Given the description of an element on the screen output the (x, y) to click on. 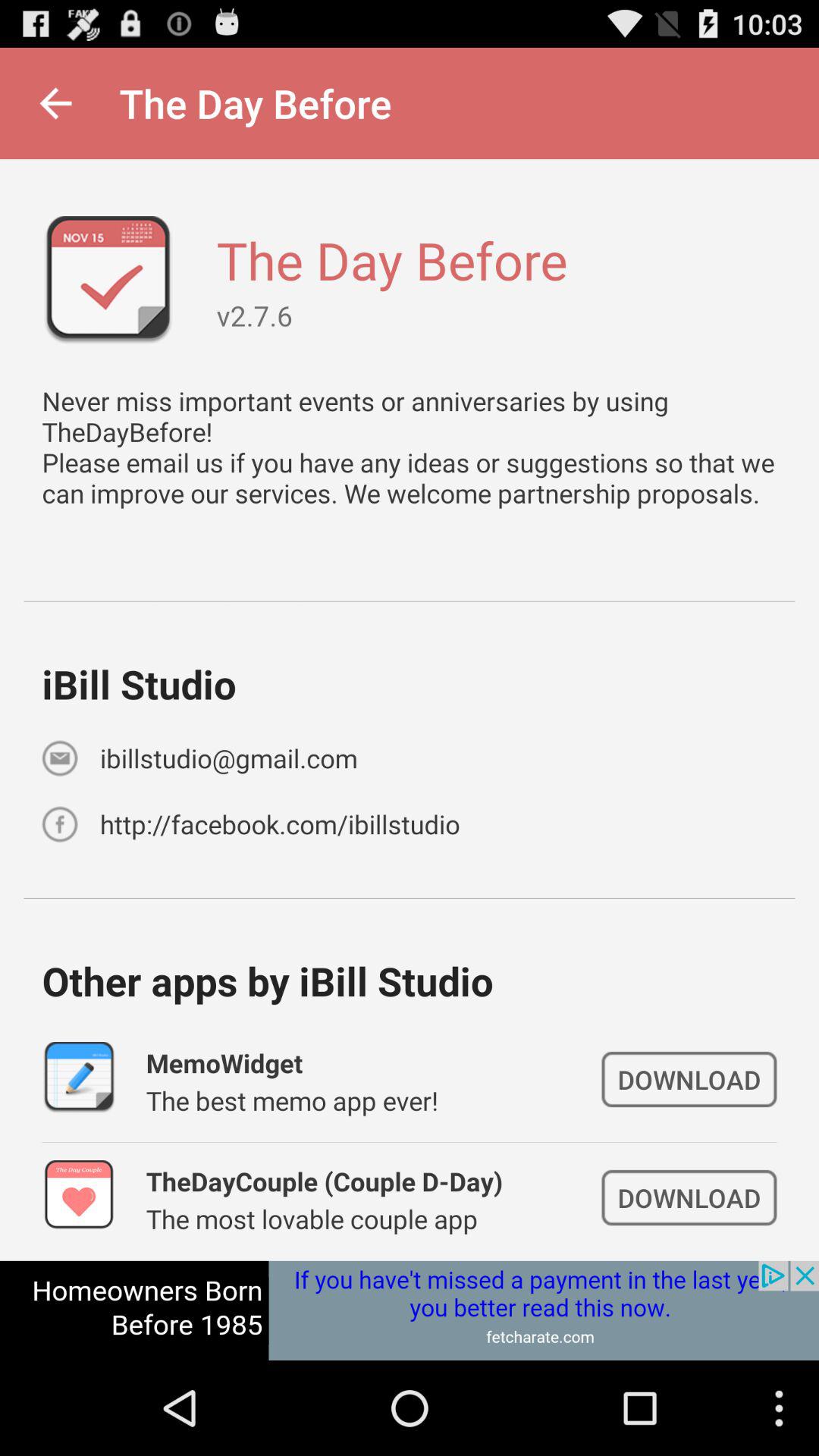
open webpage of displayed advertisement (409, 1310)
